Given the description of an element on the screen output the (x, y) to click on. 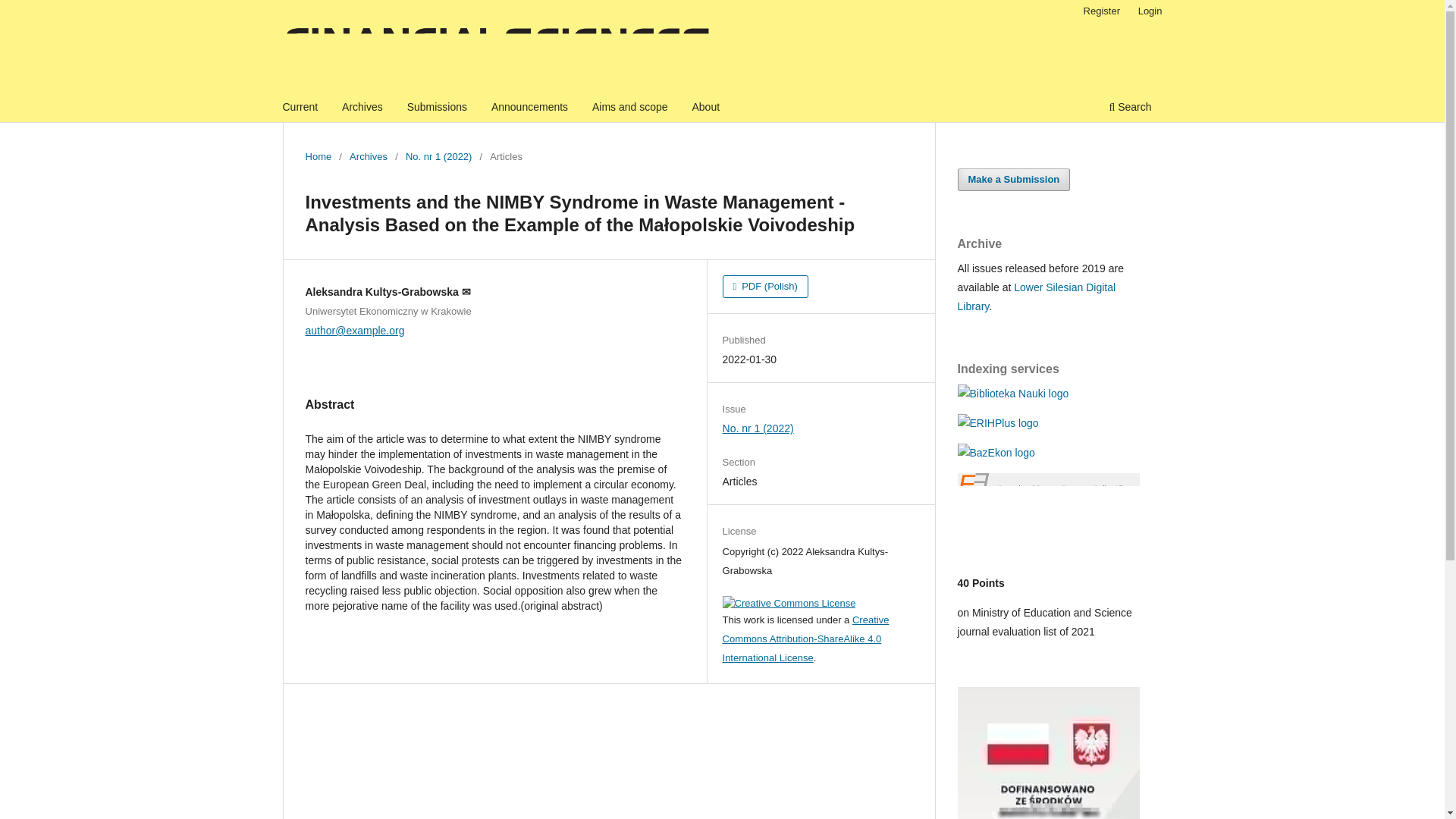
Archives (362, 108)
Search (1129, 108)
Announcements (529, 108)
Register (1100, 11)
Make a Submission (1013, 179)
Submissions (436, 108)
Current (300, 108)
Login (1150, 11)
Home (317, 156)
